Given the description of an element on the screen output the (x, y) to click on. 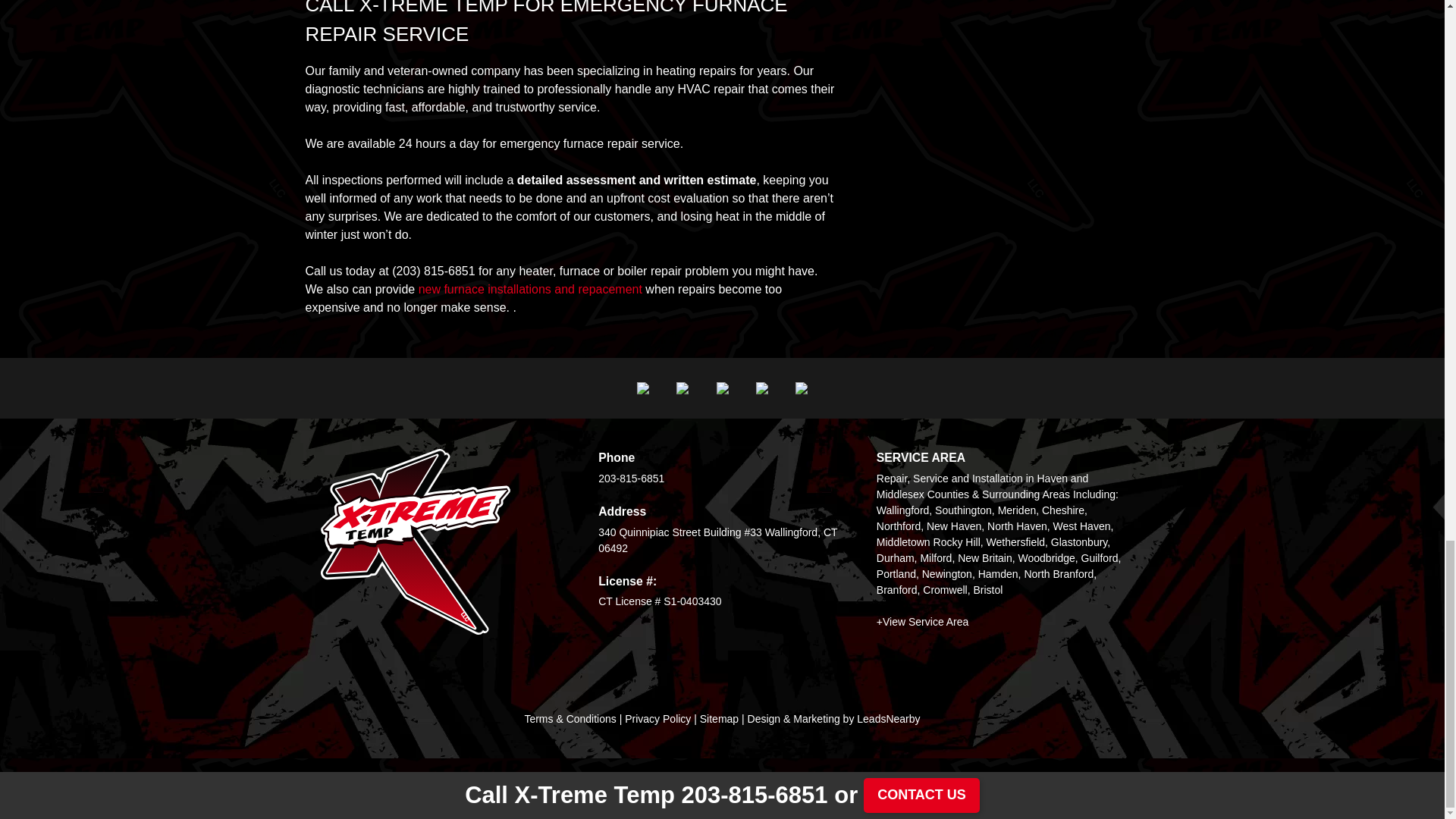
new furnace installations and repacement (530, 288)
